Given the description of an element on the screen output the (x, y) to click on. 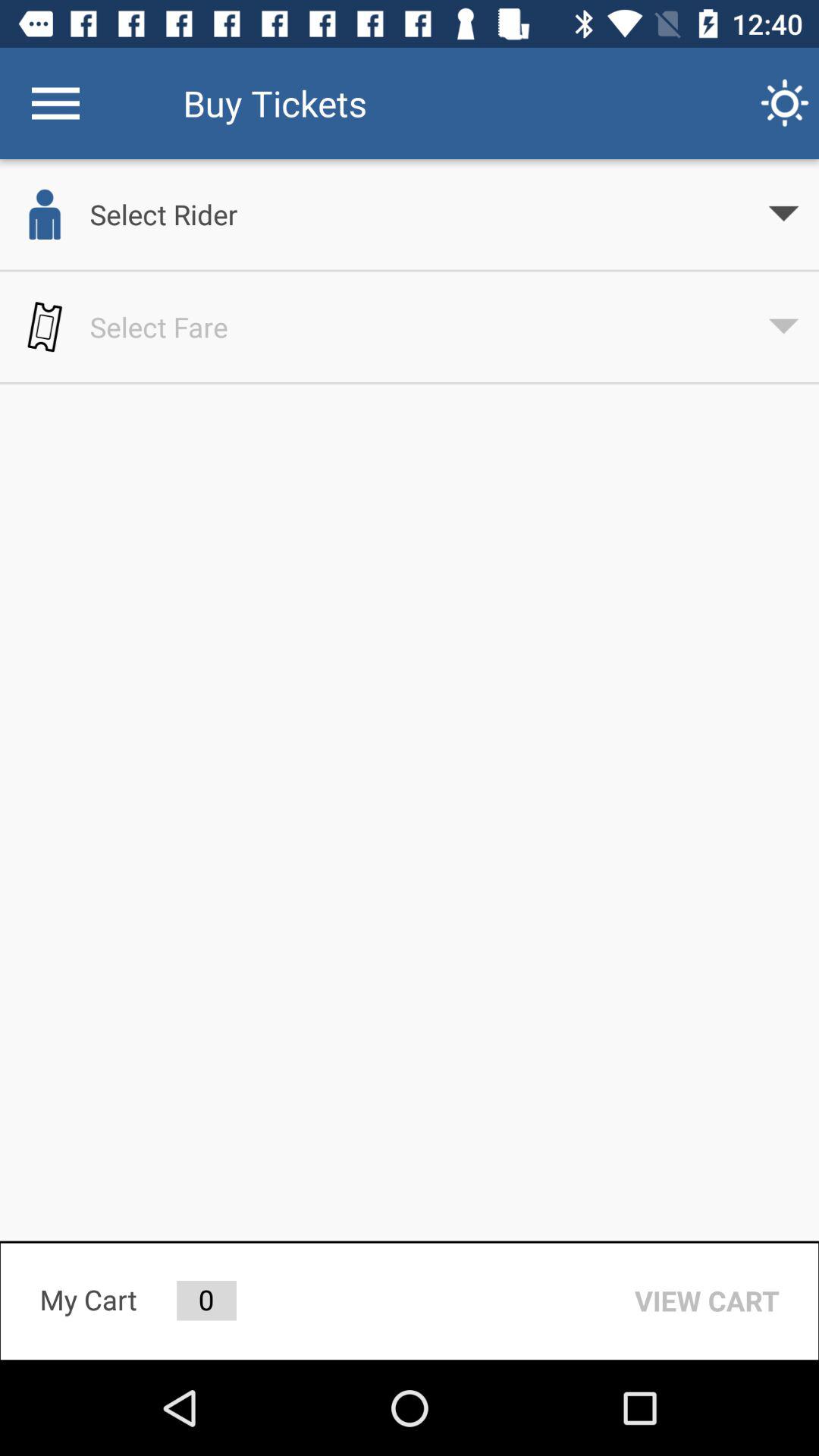
tap view cart (706, 1300)
